Given the description of an element on the screen output the (x, y) to click on. 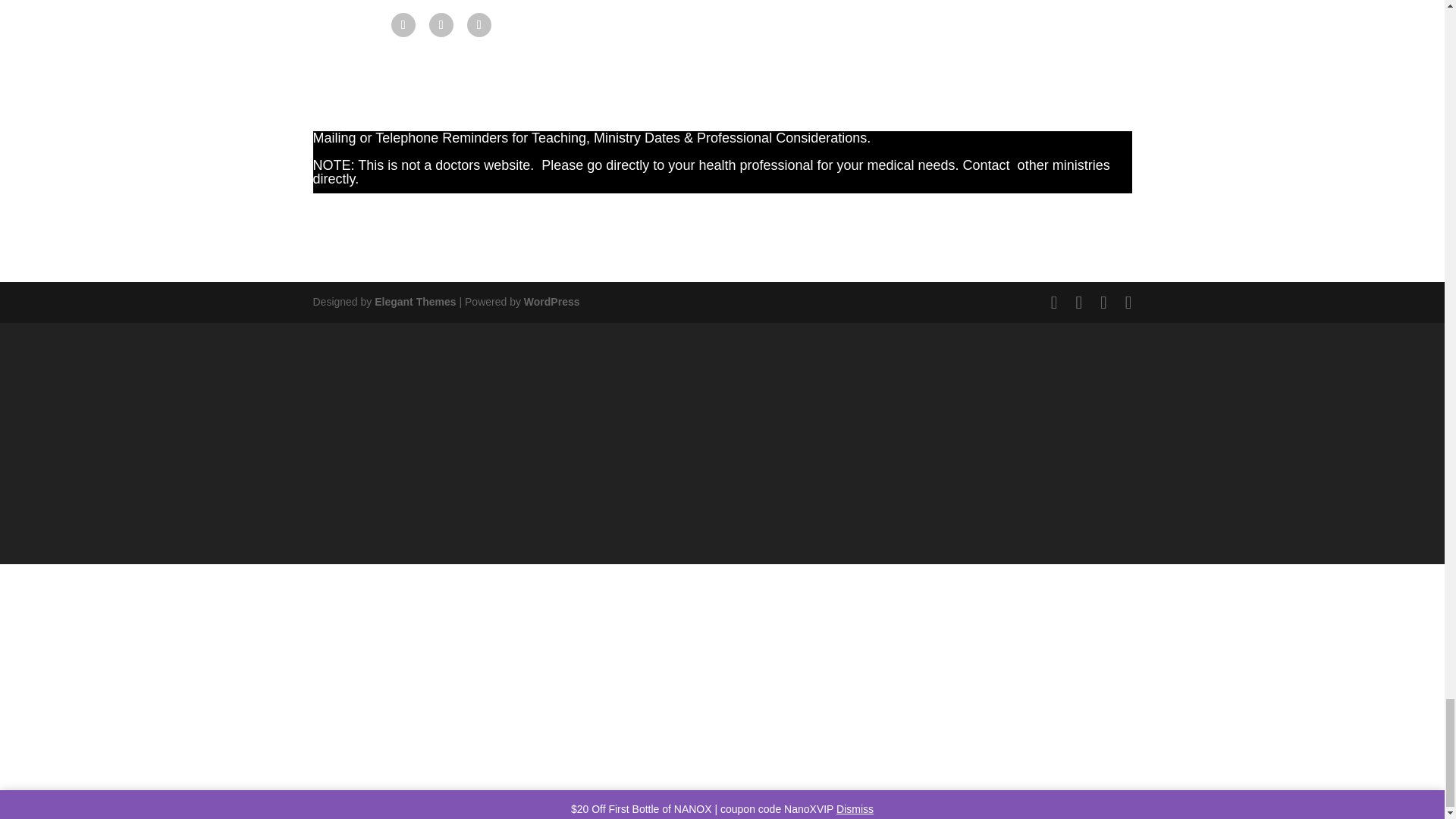
Premium WordPress Themes (414, 301)
Follow on Facebook (402, 24)
Follow on X (440, 24)
Follow on LinkedIn (479, 24)
